Given the description of an element on the screen output the (x, y) to click on. 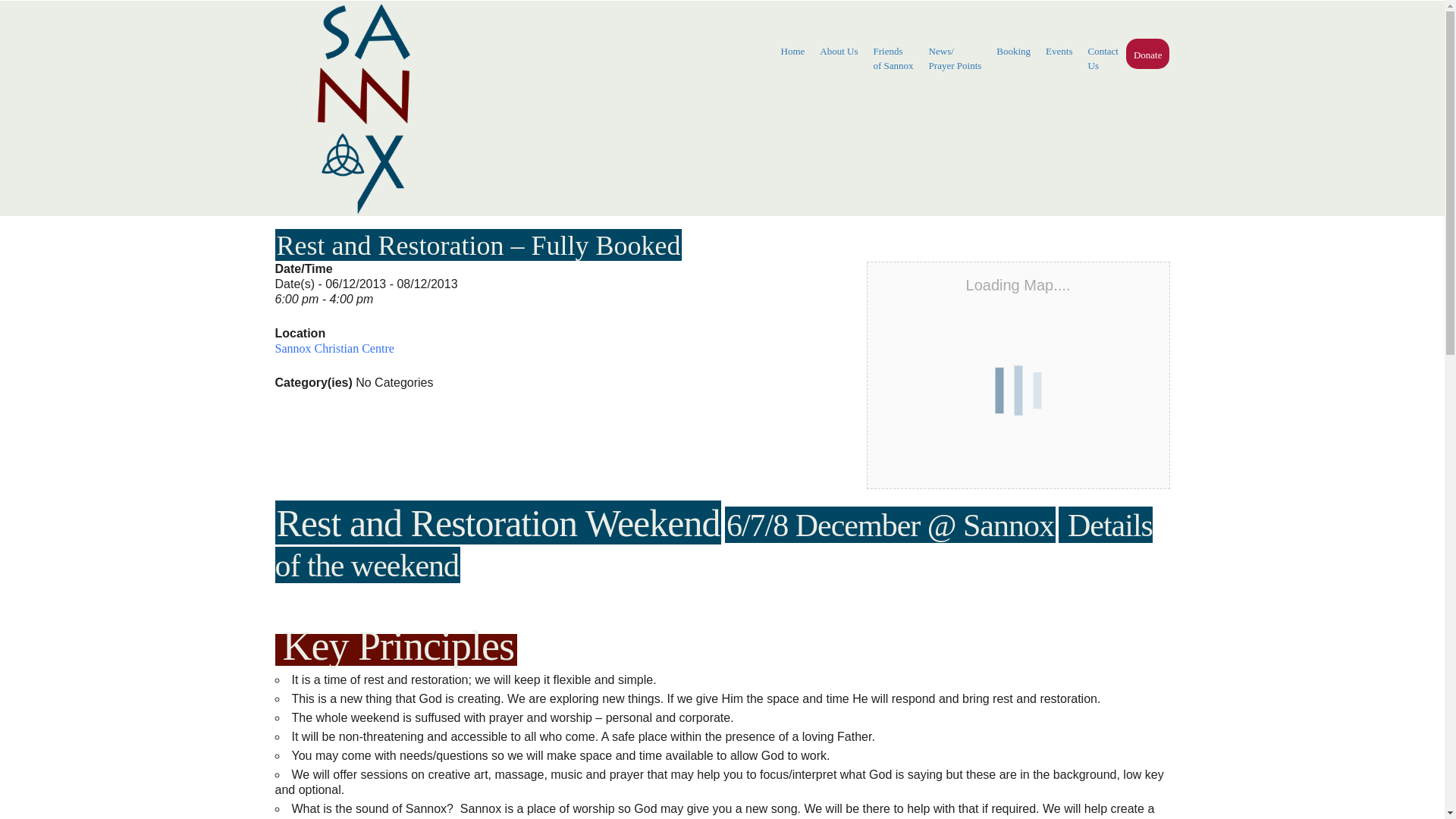
Events (1059, 51)
Home (792, 51)
About Us (893, 58)
Donate (838, 51)
Booking (1147, 55)
